Given the description of an element on the screen output the (x, y) to click on. 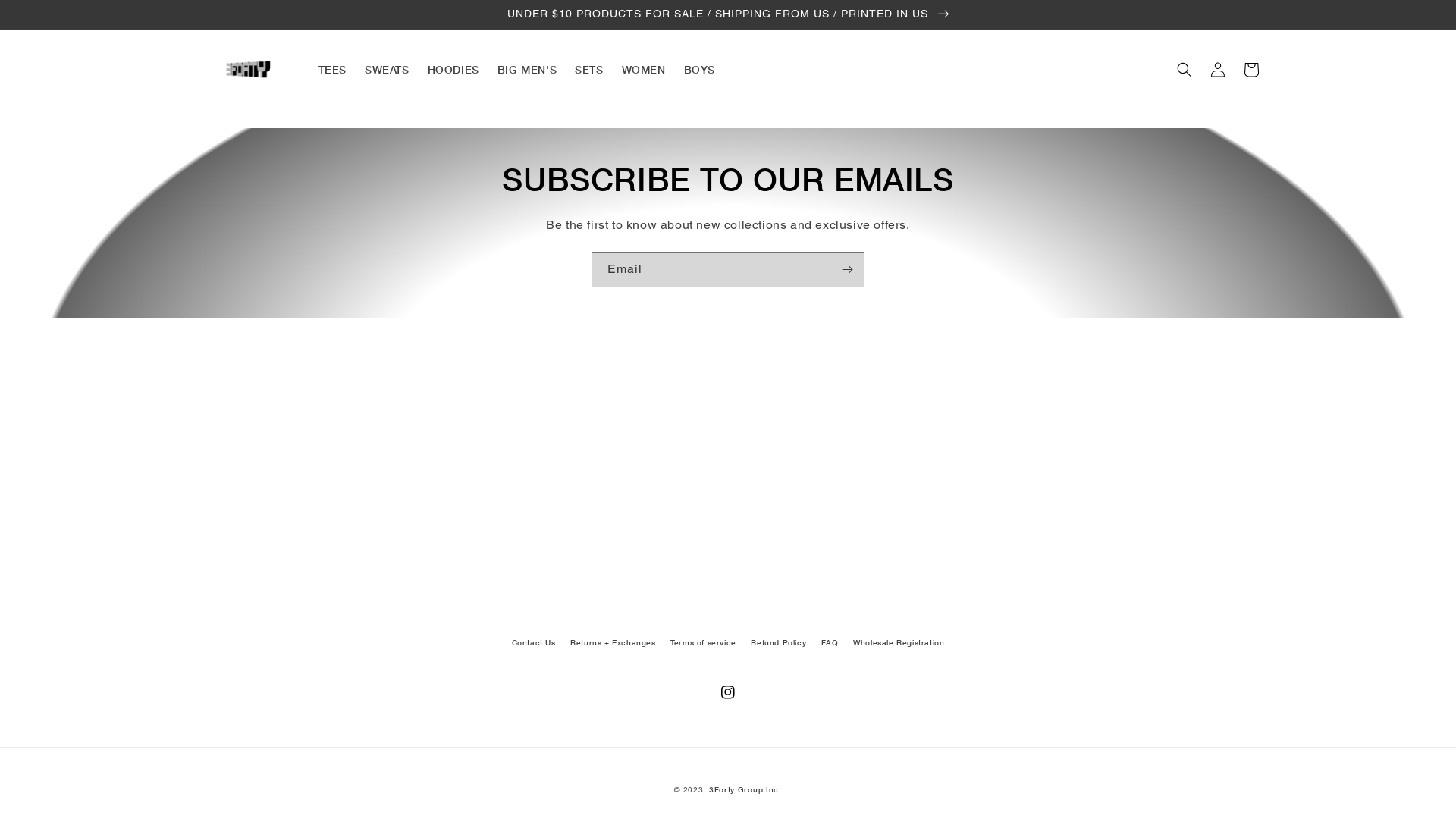
Wholesale Registration Element type: text (898, 641)
SWEATS Element type: text (386, 69)
Cart Element type: text (1250, 69)
3Forty Group Inc. Element type: text (745, 788)
FAQ Element type: text (829, 641)
TEES Element type: text (332, 69)
HOODIES Element type: text (453, 69)
Refund Policy Element type: text (778, 641)
SETS Element type: text (588, 69)
WOMEN Element type: text (643, 69)
Returns + Exchanges Element type: text (612, 641)
Terms of service Element type: text (703, 641)
BOYS Element type: text (699, 69)
BIG MEN'S Element type: text (526, 69)
Contact Us Element type: text (533, 643)
Instagram Element type: text (727, 692)
Log in Element type: text (1217, 69)
